Given the description of an element on the screen output the (x, y) to click on. 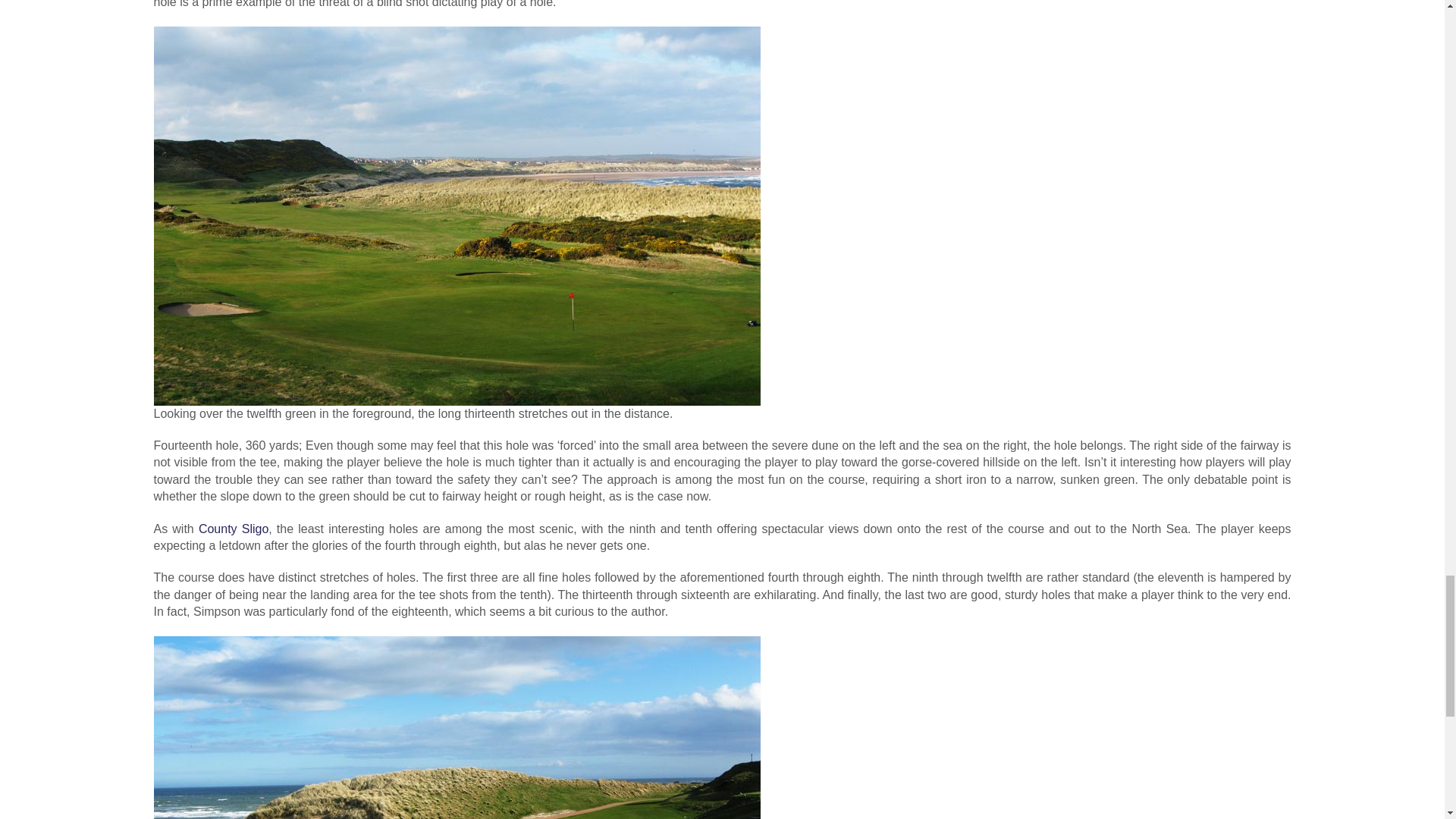
County Sligo (232, 528)
cruden14 (456, 727)
